Given the description of an element on the screen output the (x, y) to click on. 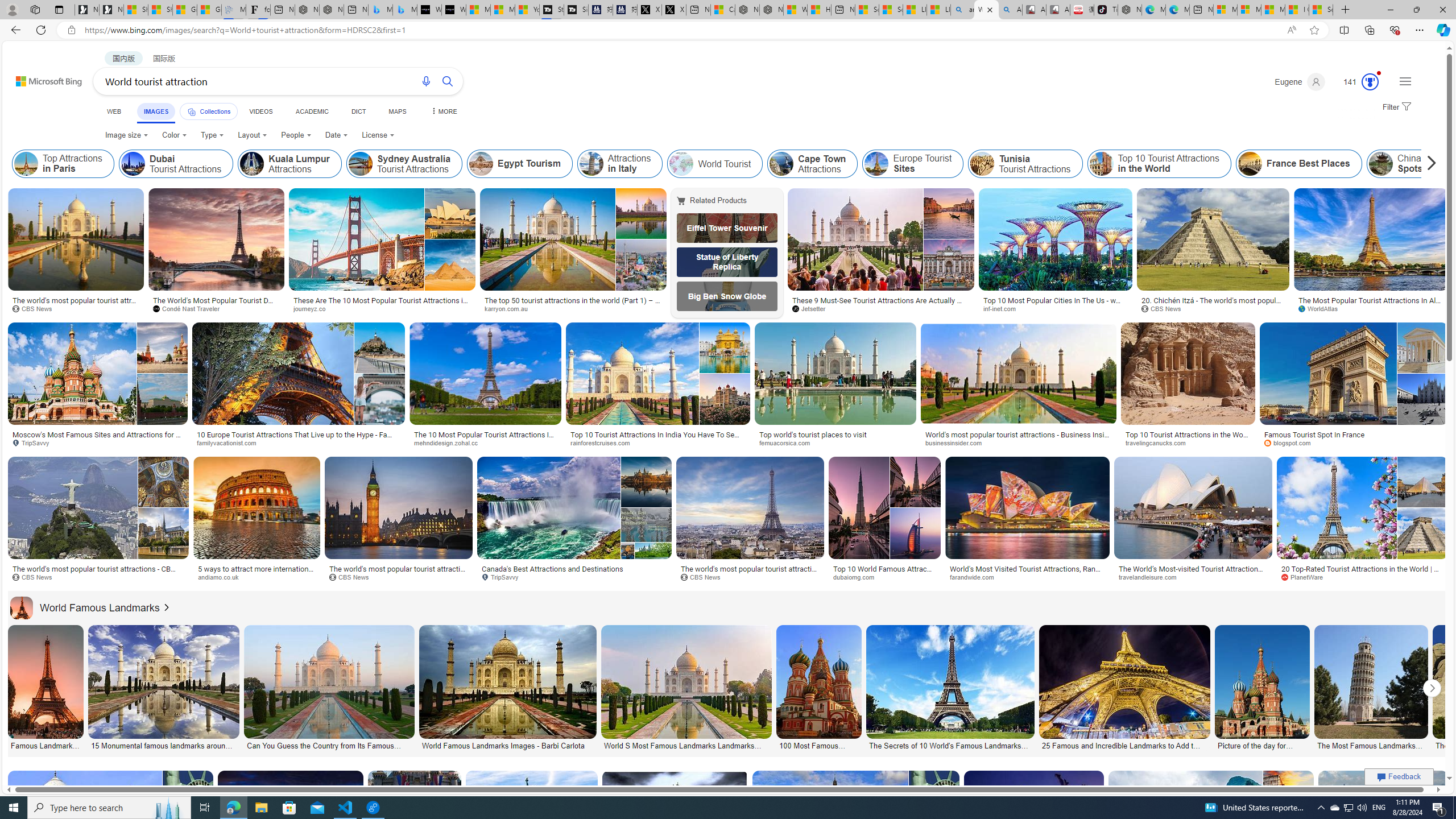
Top 10 Tourist Attractions in the World (1159, 163)
License (377, 135)
Type (212, 135)
Date (336, 135)
Statue of Liberty Replica (727, 261)
The 10 Most Popular Tourist Attractions In The World - ZOHAL (485, 438)
Dropdown Menu (443, 111)
